Given the description of an element on the screen output the (x, y) to click on. 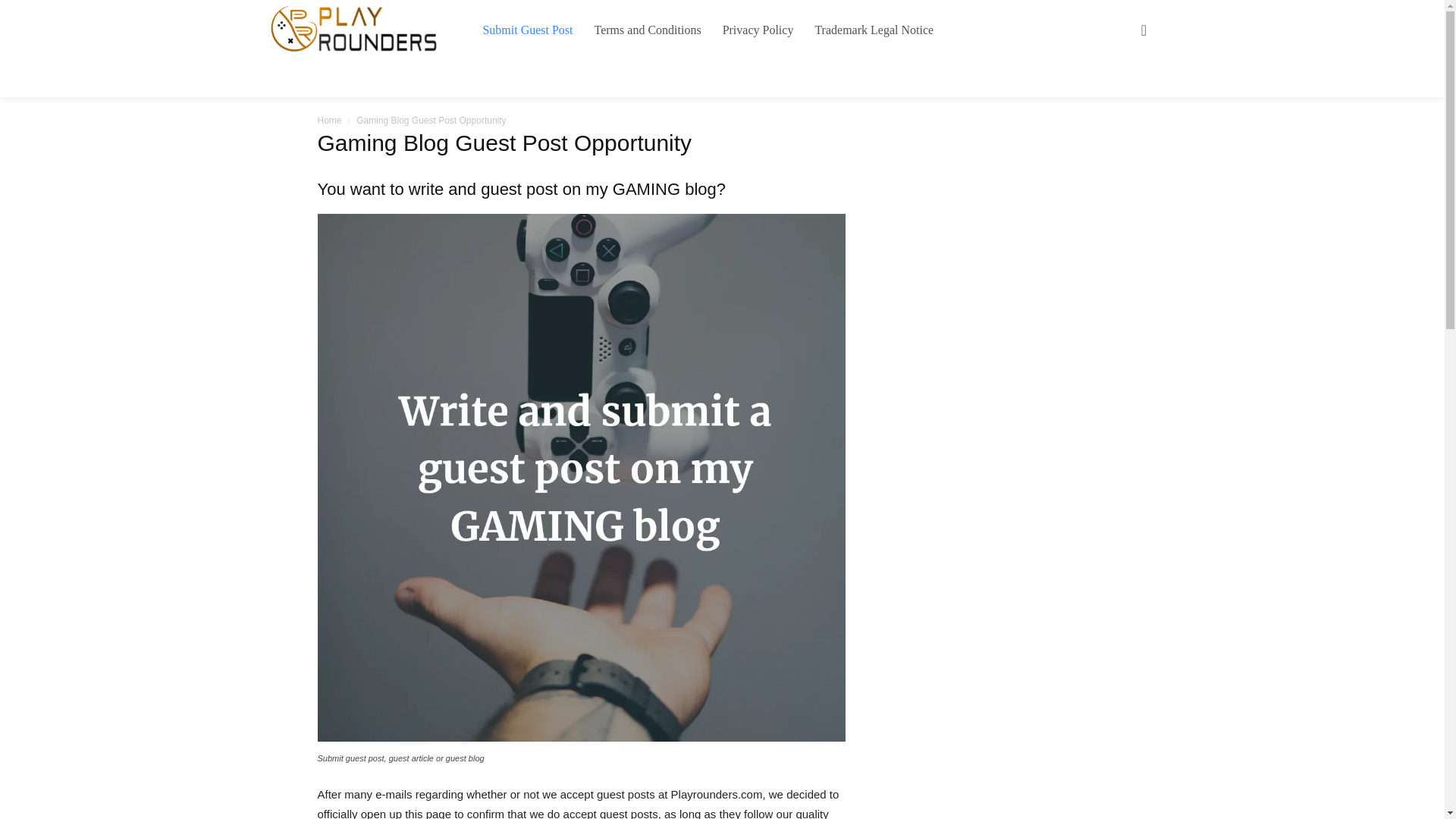
Home (328, 120)
Submit Guest Post (527, 30)
Terms and Conditions (647, 30)
Privacy Policy (758, 30)
Trademark Legal Notice (873, 30)
